Given the description of an element on the screen output the (x, y) to click on. 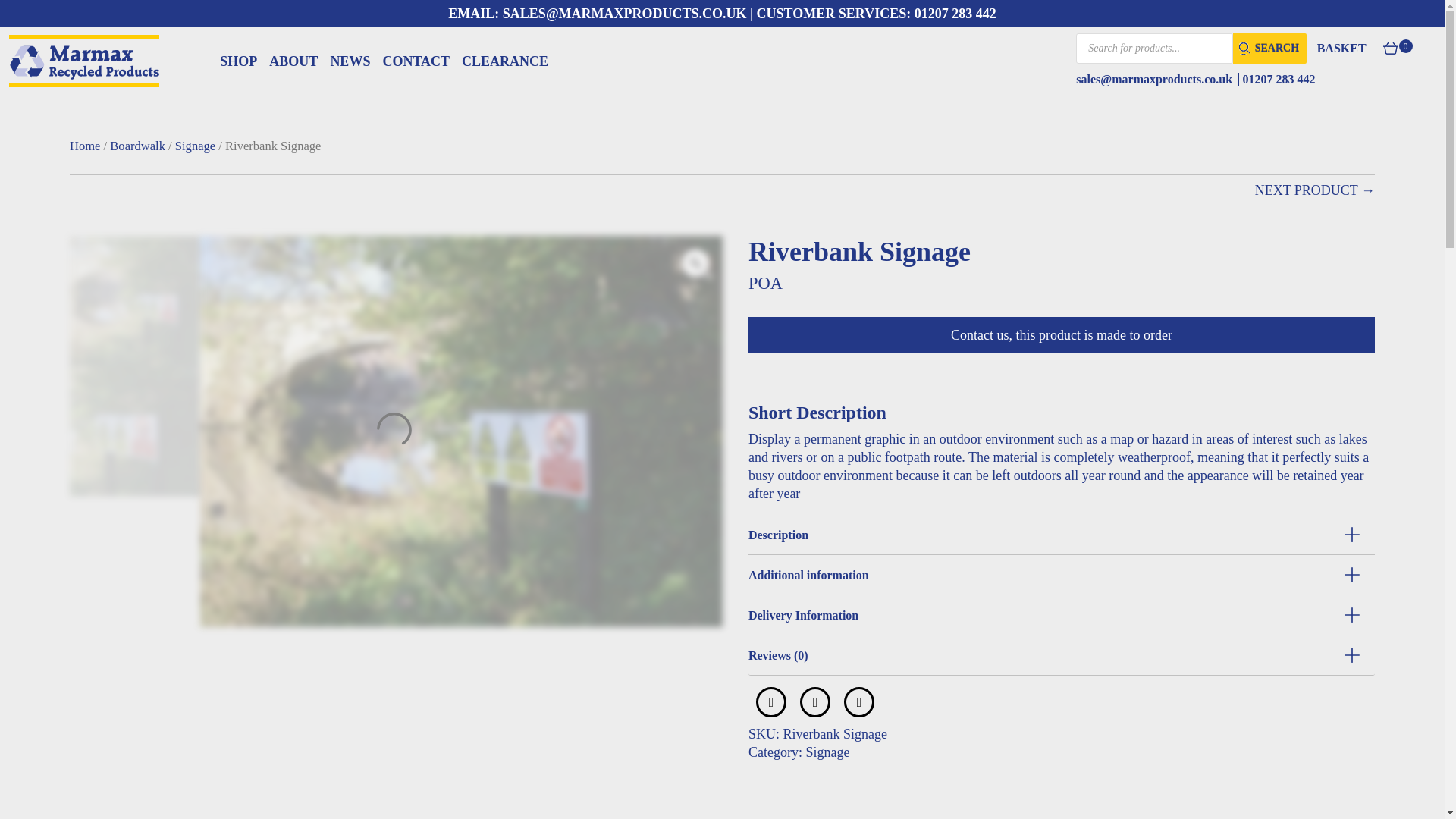
View your shopping cart (1358, 48)
Boardwalk (137, 145)
Additional information (1061, 575)
Signage (194, 145)
Home (84, 145)
Description (1061, 535)
riverbank-signage-920x600 (134, 300)
Contact us, this product is made to order (1061, 334)
CONTACT (415, 60)
